Given the description of an element on the screen output the (x, y) to click on. 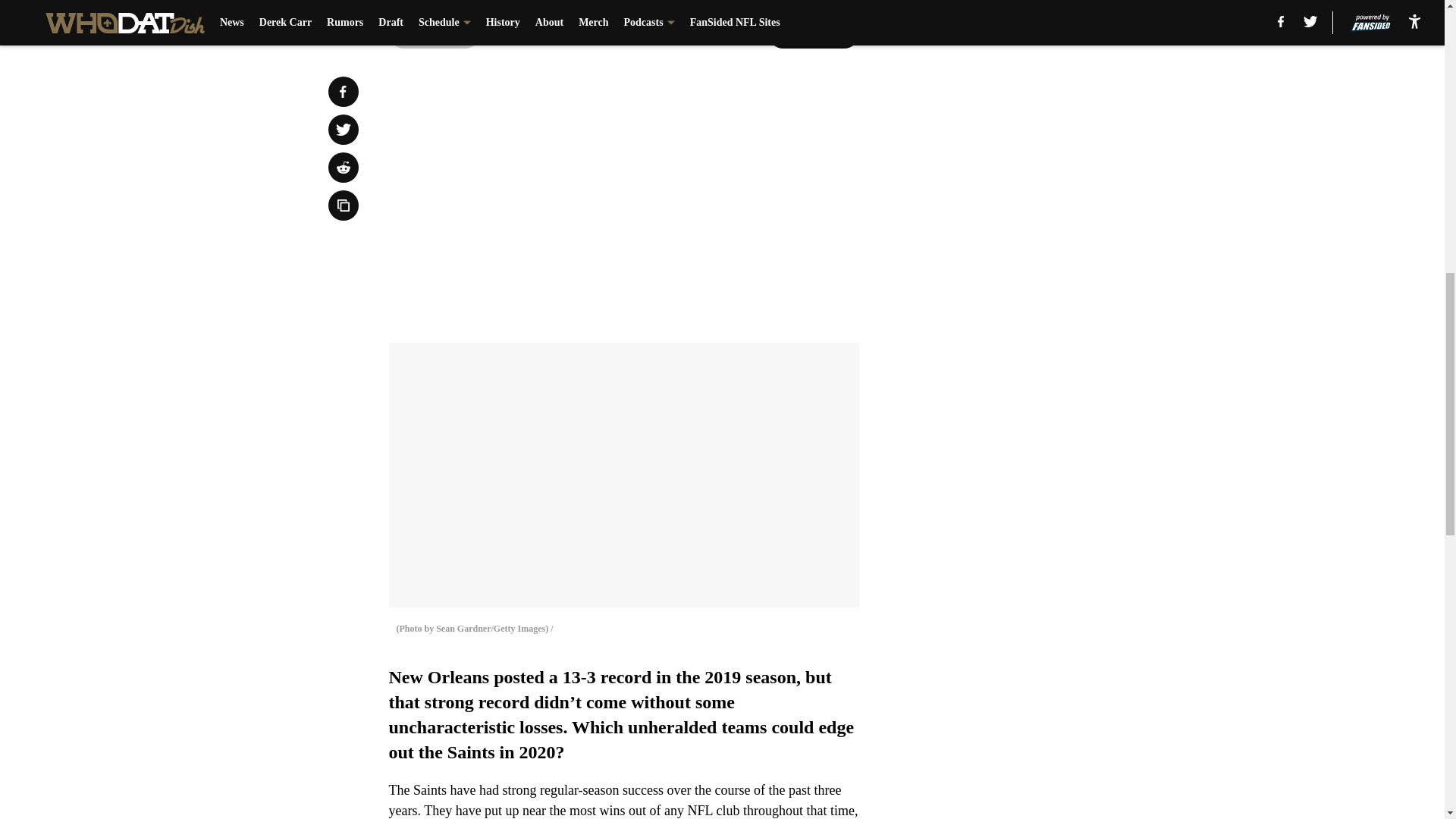
Prev (433, 33)
Next (813, 33)
